Given the description of an element on the screen output the (x, y) to click on. 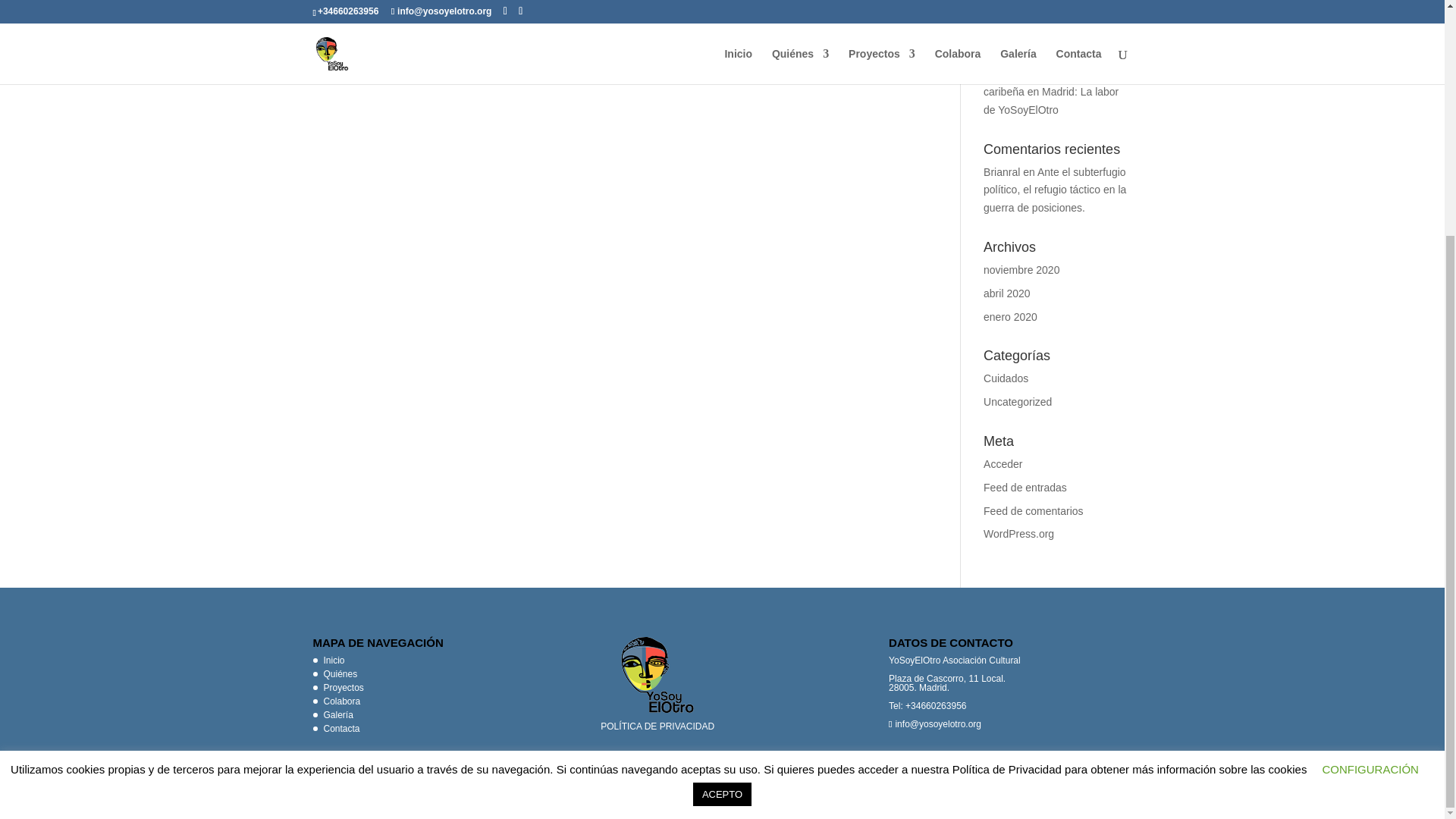
noviembre 2020 (1021, 269)
Brianral (1002, 172)
abril 2020 (1007, 293)
